Given the description of an element on the screen output the (x, y) to click on. 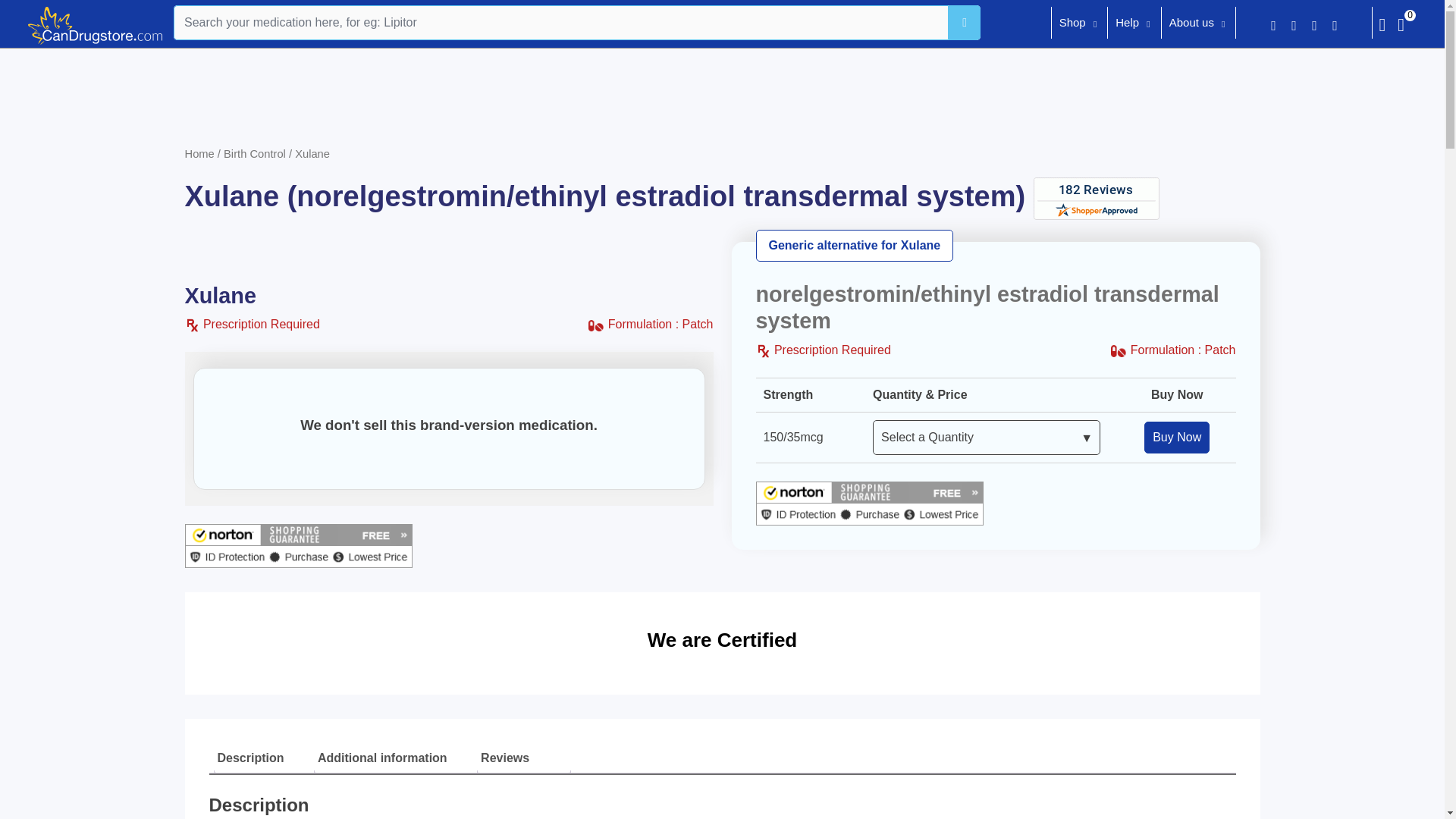
Shop (1072, 23)
Help (1126, 23)
